Given the description of an element on the screen output the (x, y) to click on. 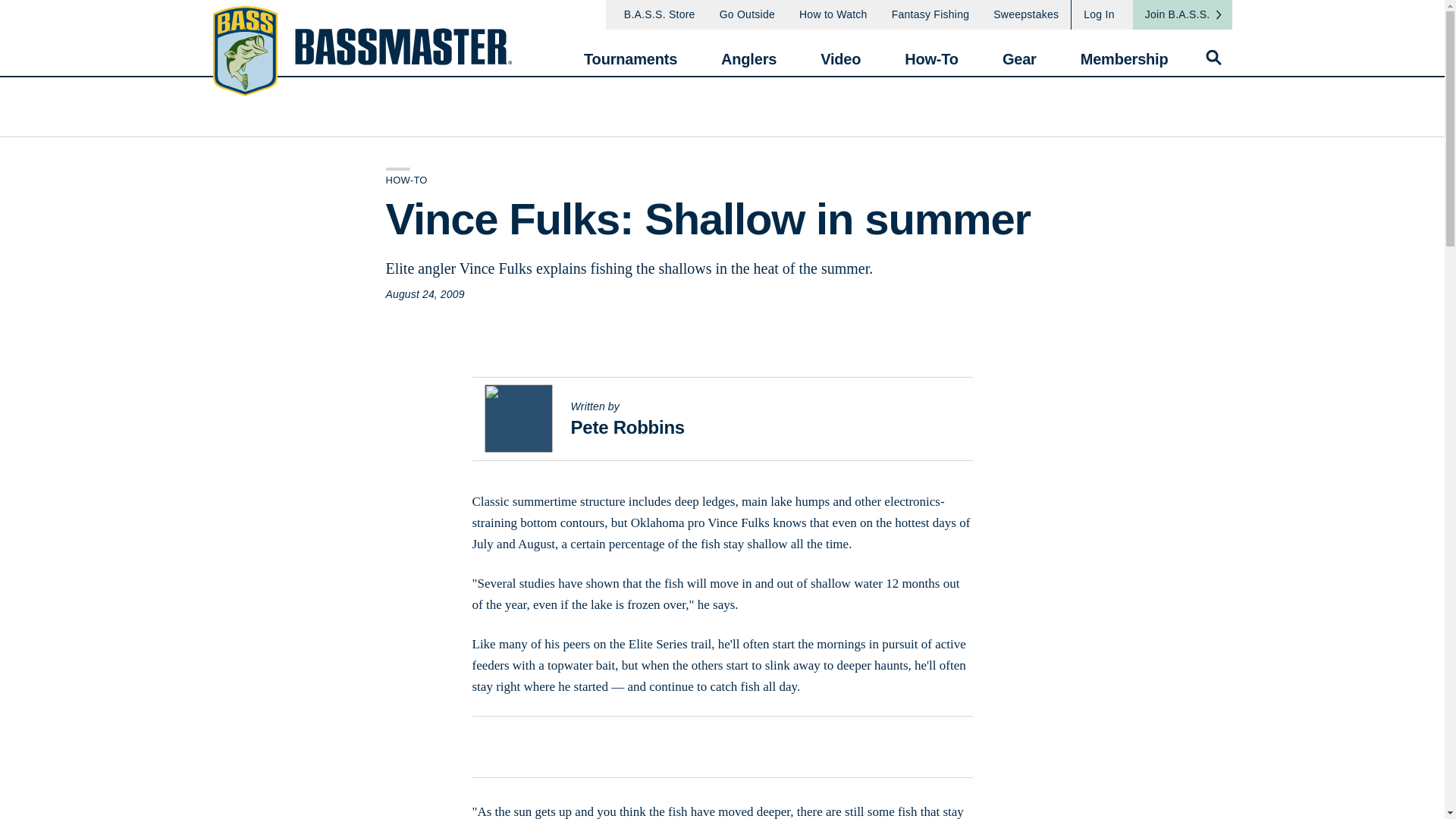
Video (840, 52)
Anglers (748, 52)
How-To (931, 52)
Tournaments (630, 52)
